Given the description of an element on the screen output the (x, y) to click on. 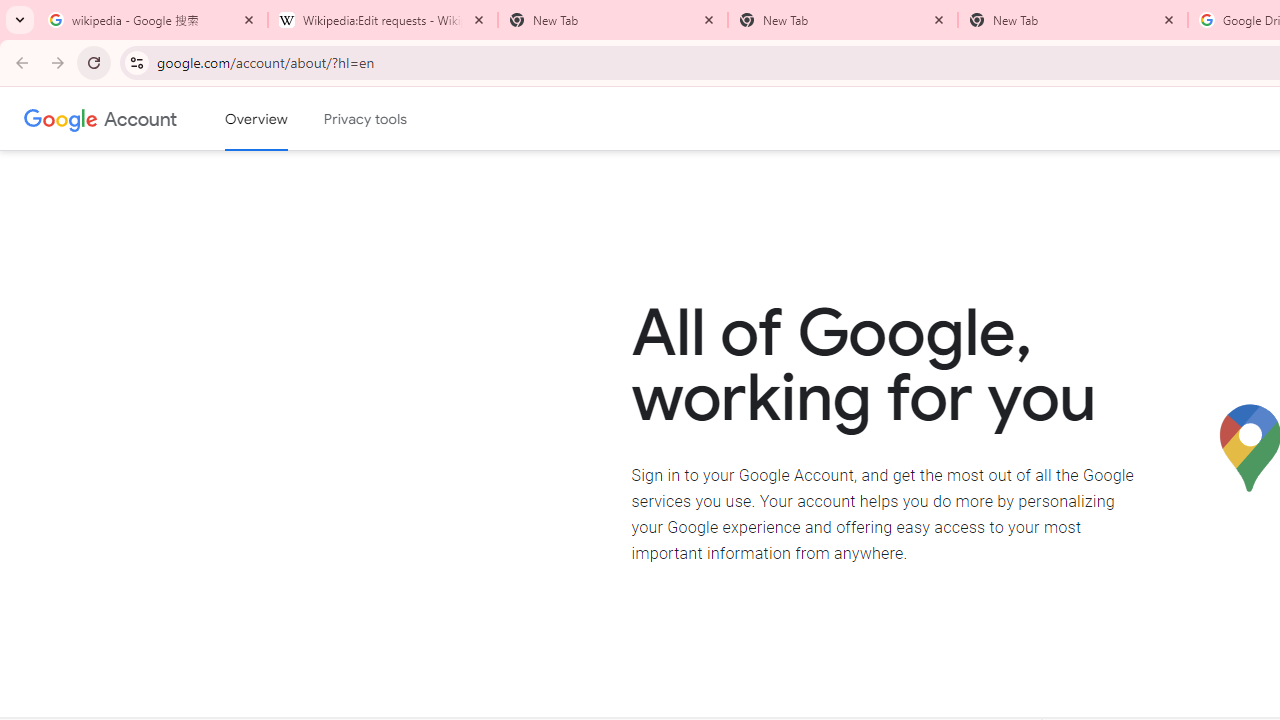
Privacy tools (365, 119)
